Given the description of an element on the screen output the (x, y) to click on. 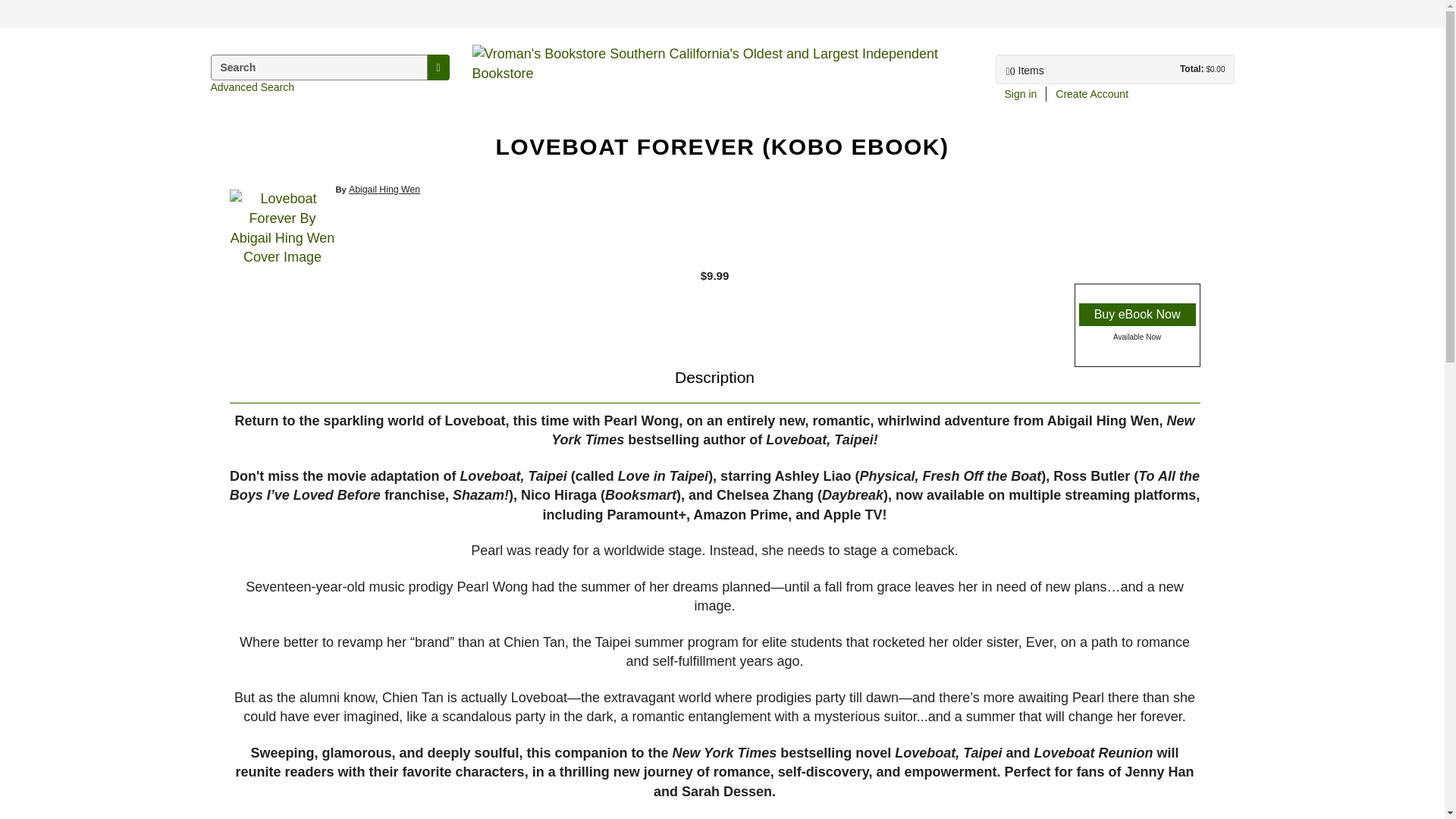
Search (437, 67)
search, Enter the terms you wish to search for. (319, 67)
Create Account (1091, 93)
Buy eBook Now (1136, 314)
Search (8, 12)
Sign in (1019, 93)
Advanced Search (253, 87)
